Given the description of an element on the screen output the (x, y) to click on. 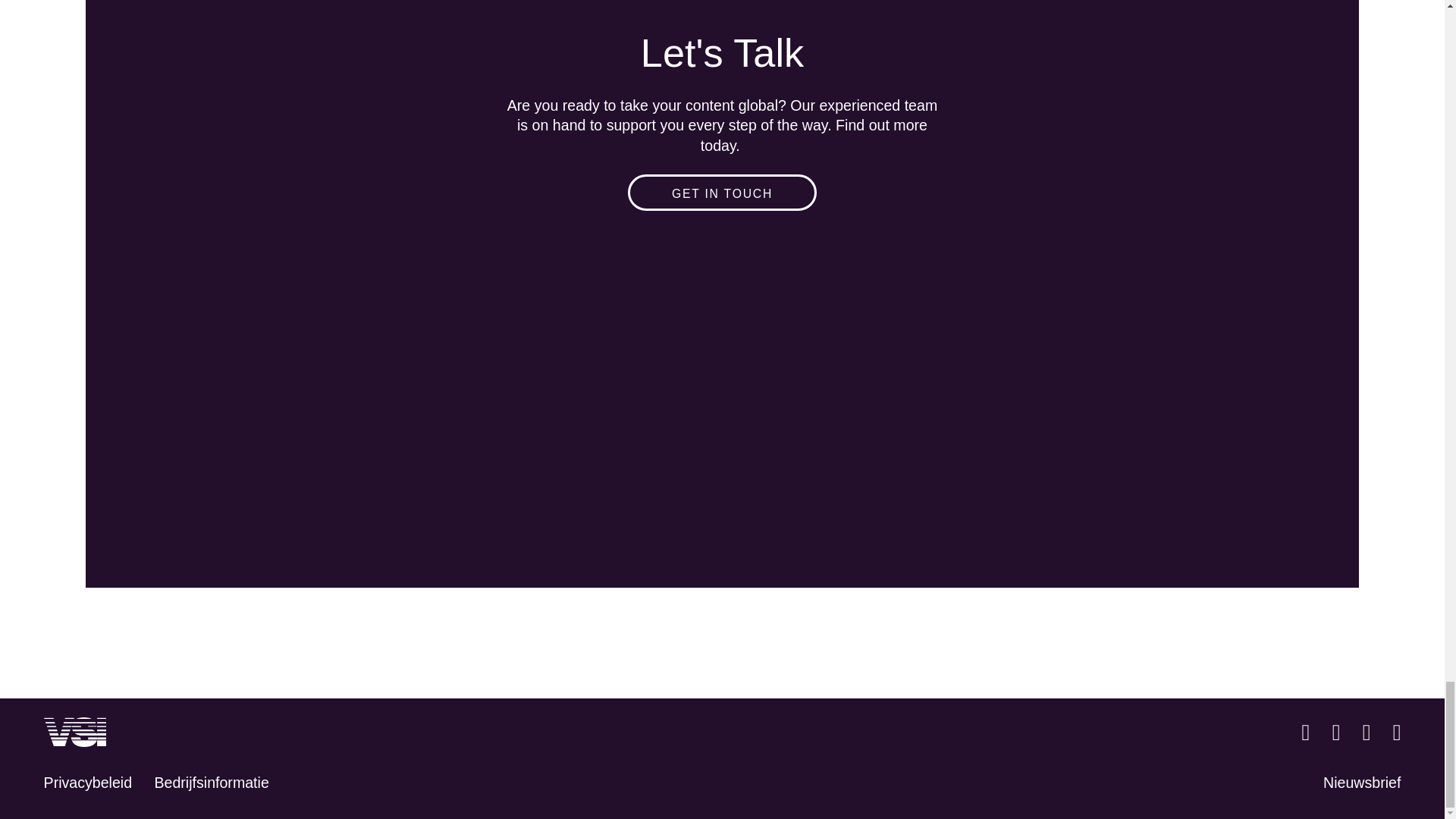
Privacybeleid (87, 782)
Nieuwsbrief (1361, 782)
Bedrijfsinformatie (210, 782)
Bedrijfsinformatie (210, 782)
Privacybeleid (87, 782)
GET IN TOUCH (721, 192)
Nieuwsbrief (1361, 782)
